Given the description of an element on the screen output the (x, y) to click on. 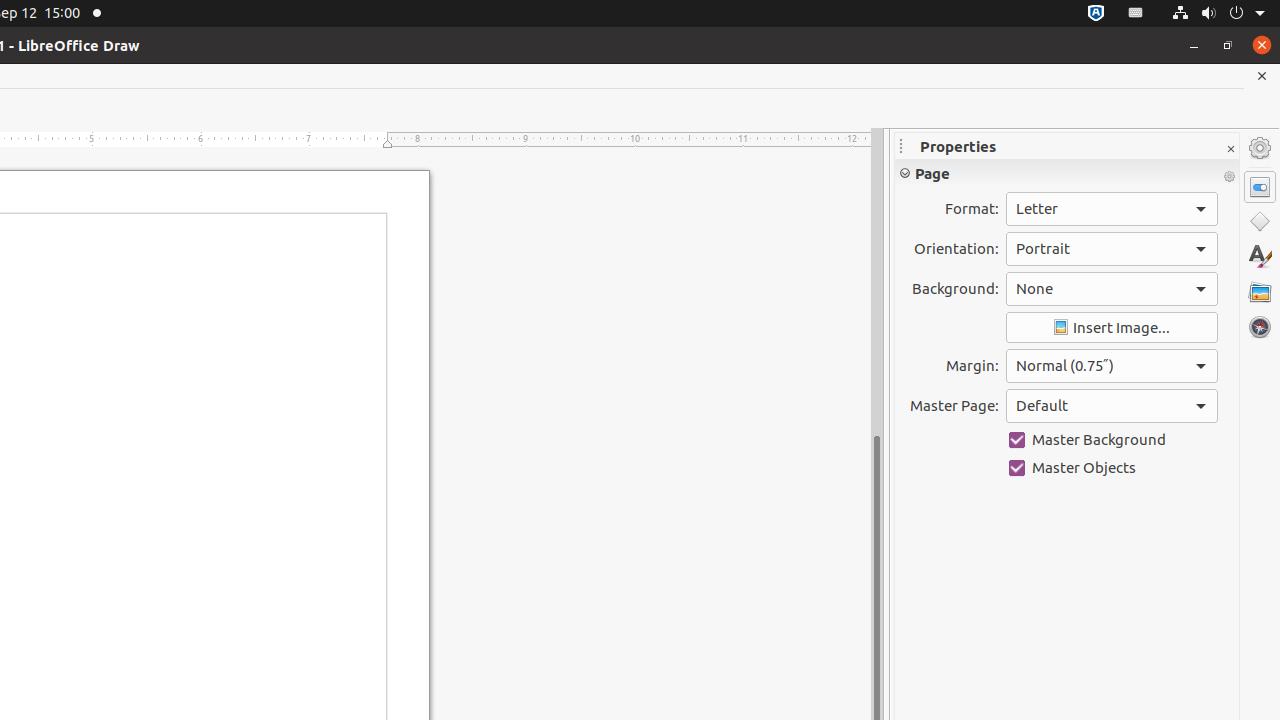
Styles Element type: radio-button (1260, 256)
Shapes Element type: radio-button (1260, 222)
:1.21/StatusNotifierItem Element type: menu (1136, 13)
:1.72/StatusNotifierItem Element type: menu (1096, 13)
More Options Element type: push-button (1229, 177)
